Given the description of an element on the screen output the (x, y) to click on. 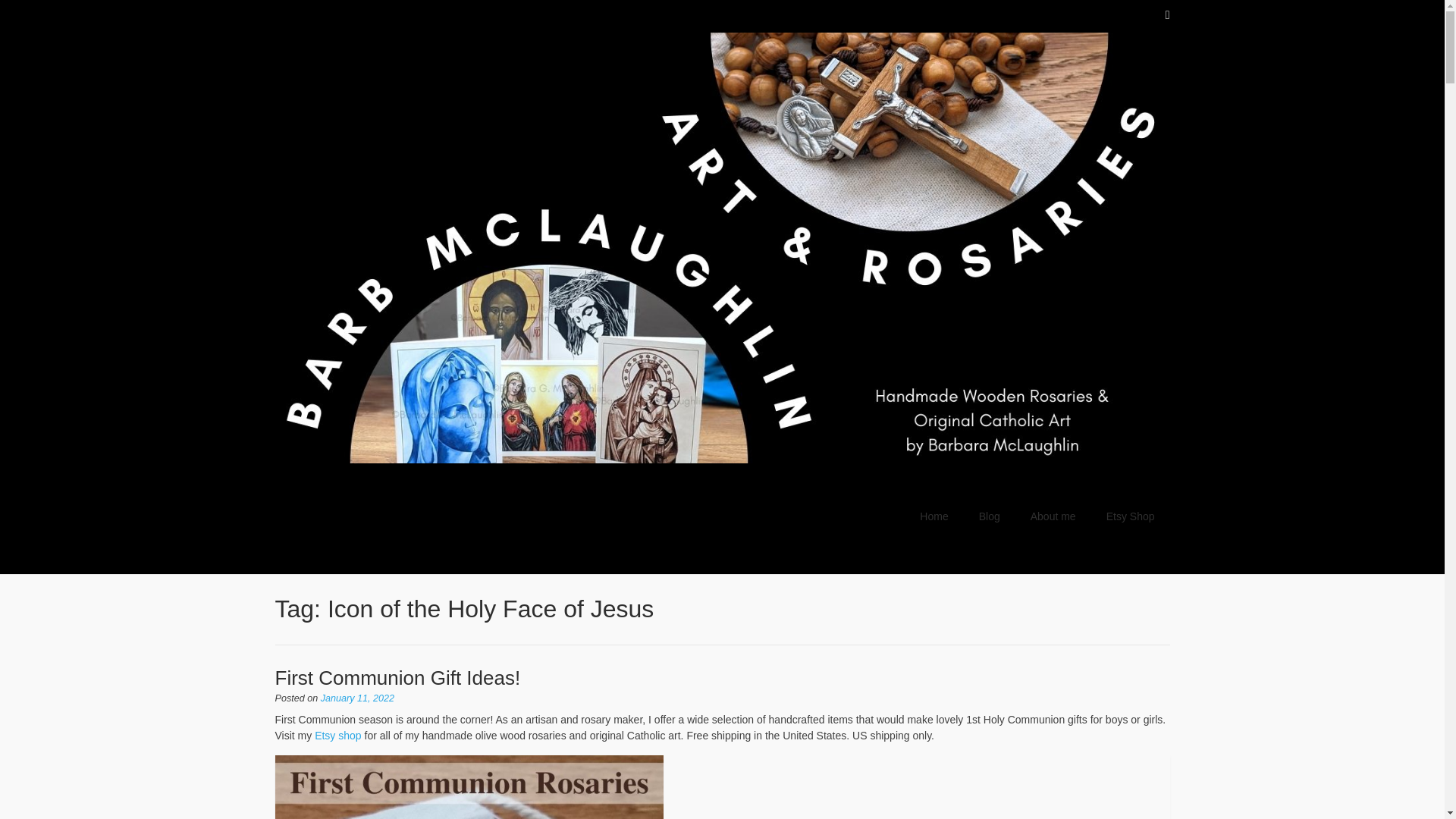
First Communion Gift Ideas! (397, 677)
Etsy shop (337, 735)
January 11, 2022 (357, 697)
